Given the description of an element on the screen output the (x, y) to click on. 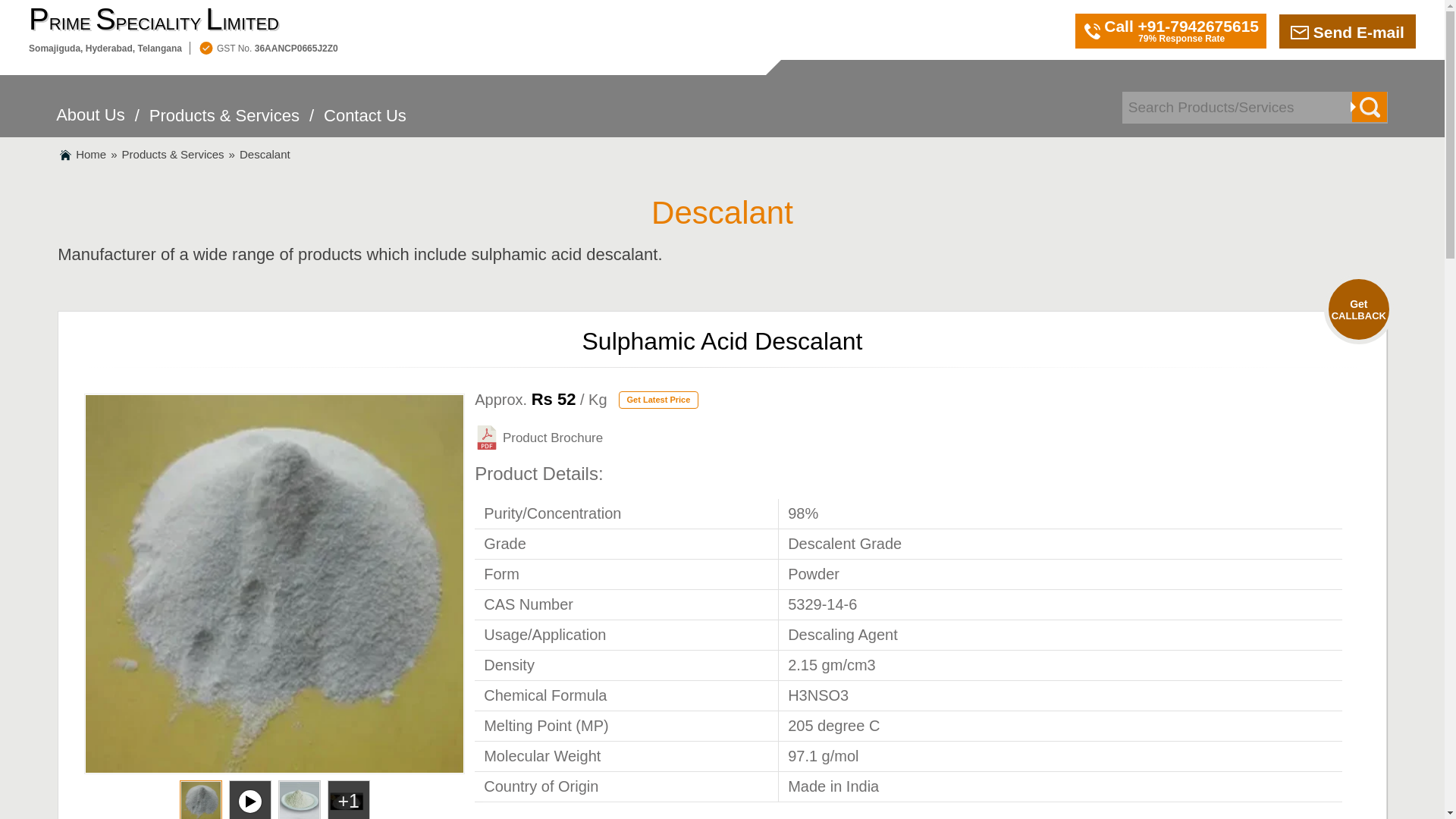
PRIME SPECIALITY LIMITED (183, 20)
Home (90, 154)
About Us (90, 123)
Contact Us (364, 124)
